Given the description of an element on the screen output the (x, y) to click on. 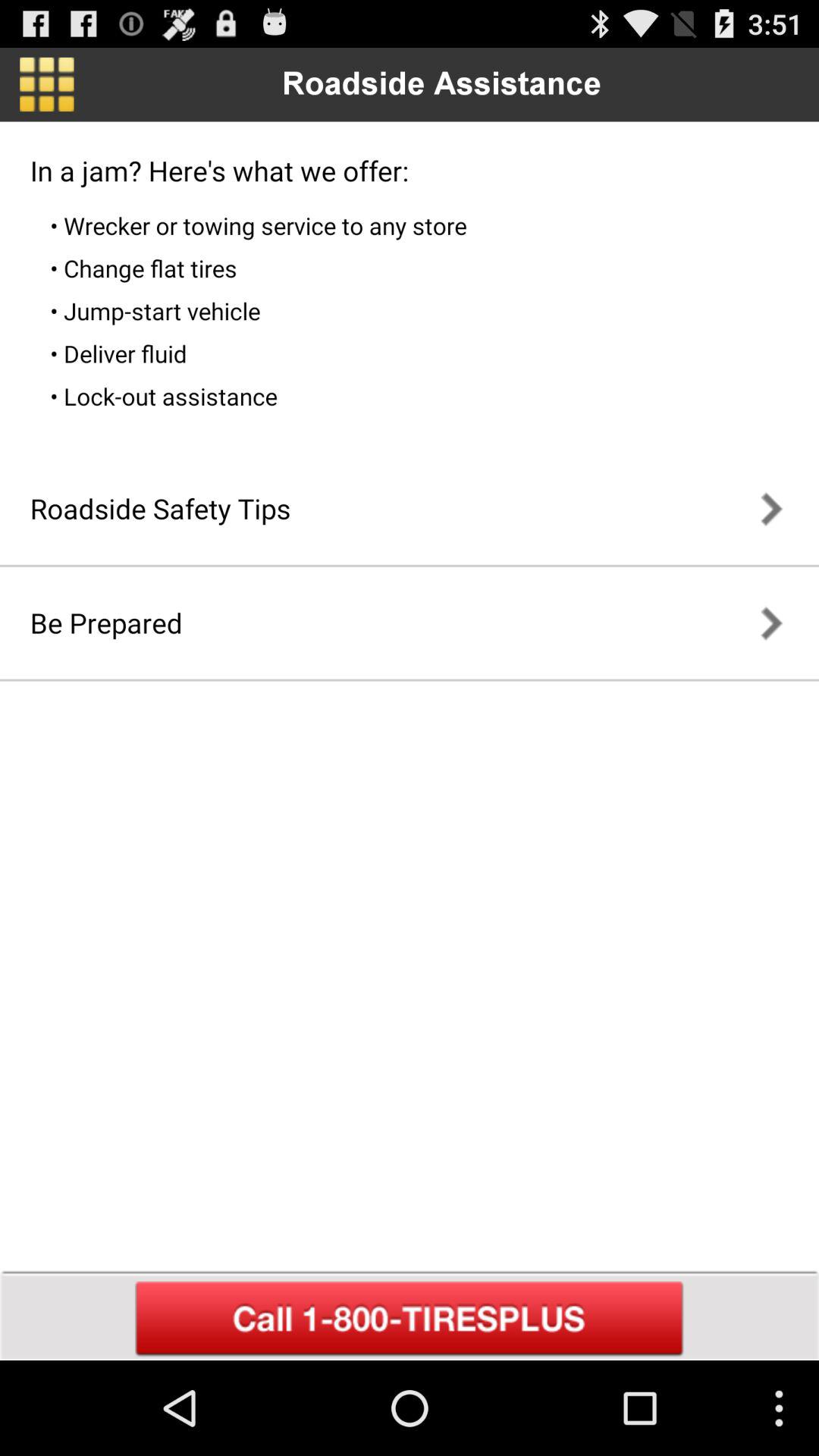
show menu (46, 84)
